Given the description of an element on the screen output the (x, y) to click on. 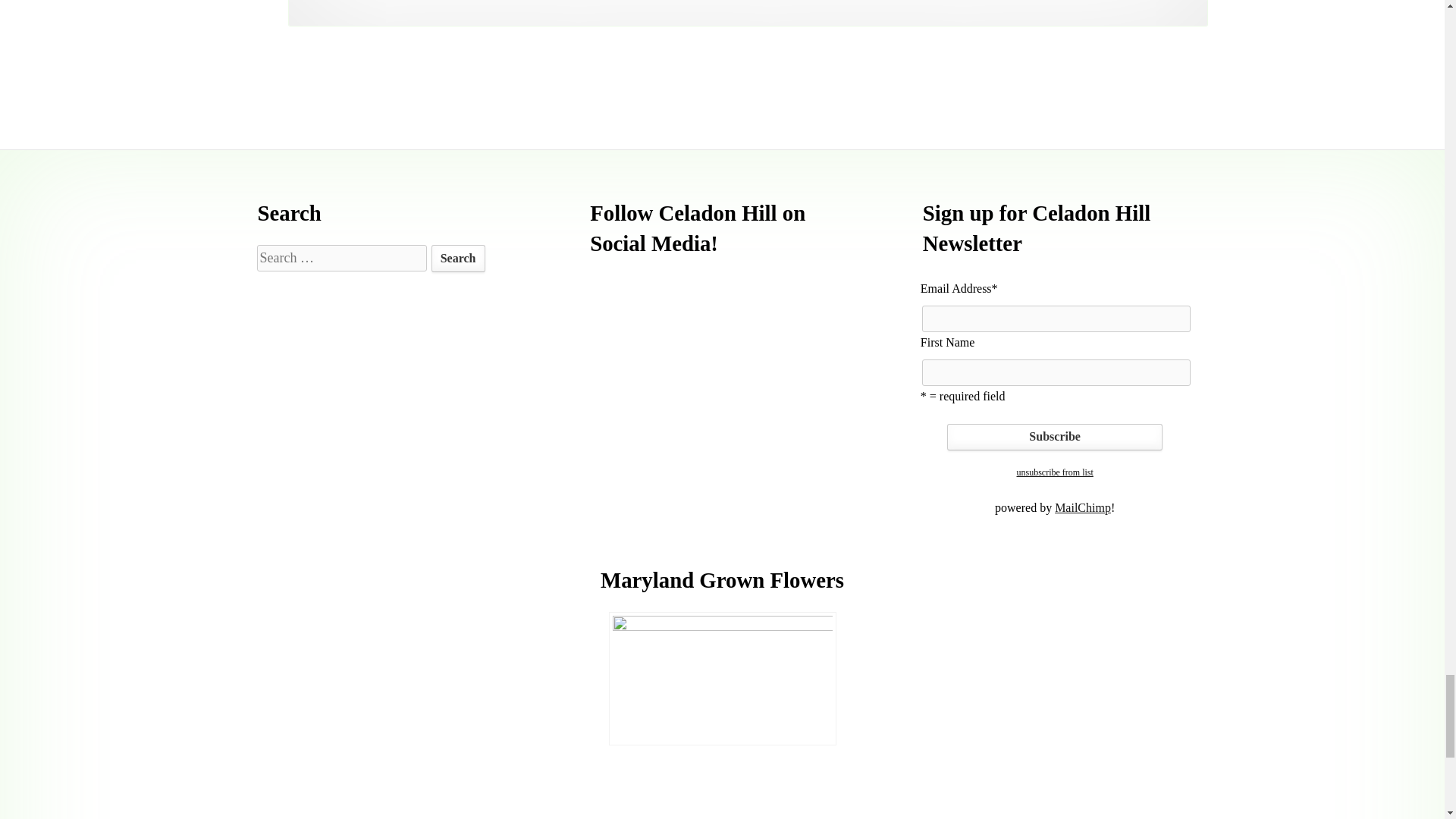
Search (457, 257)
Search (457, 257)
Subscribe (1054, 437)
